Given the description of an element on the screen output the (x, y) to click on. 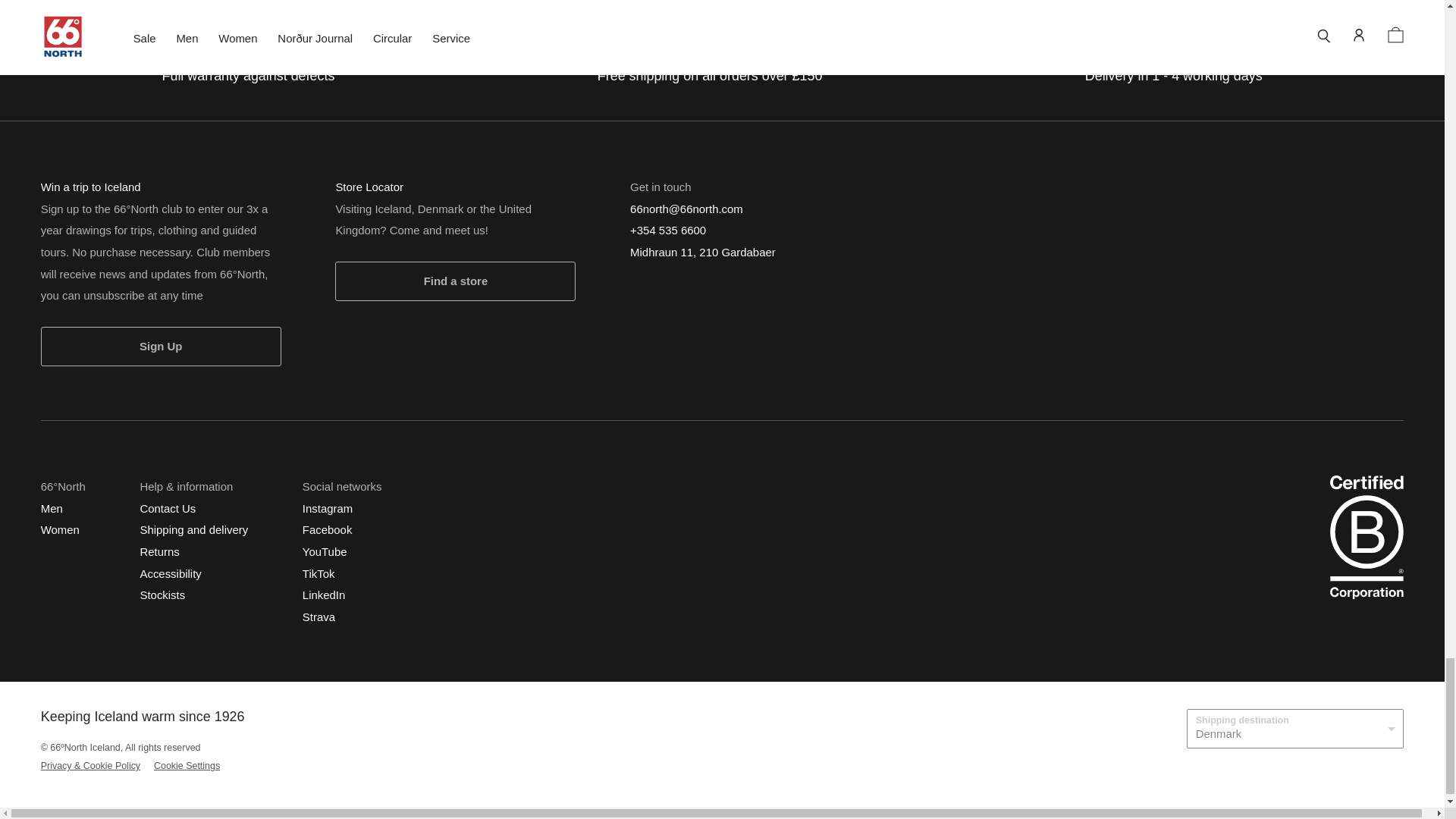
Men (51, 507)
Contact Us (167, 507)
Shipping and delivery (193, 529)
Find a store (454, 281)
Returns (159, 550)
Accessibility (169, 572)
Women (60, 529)
Sign Up (160, 346)
